Given the description of an element on the screen output the (x, y) to click on. 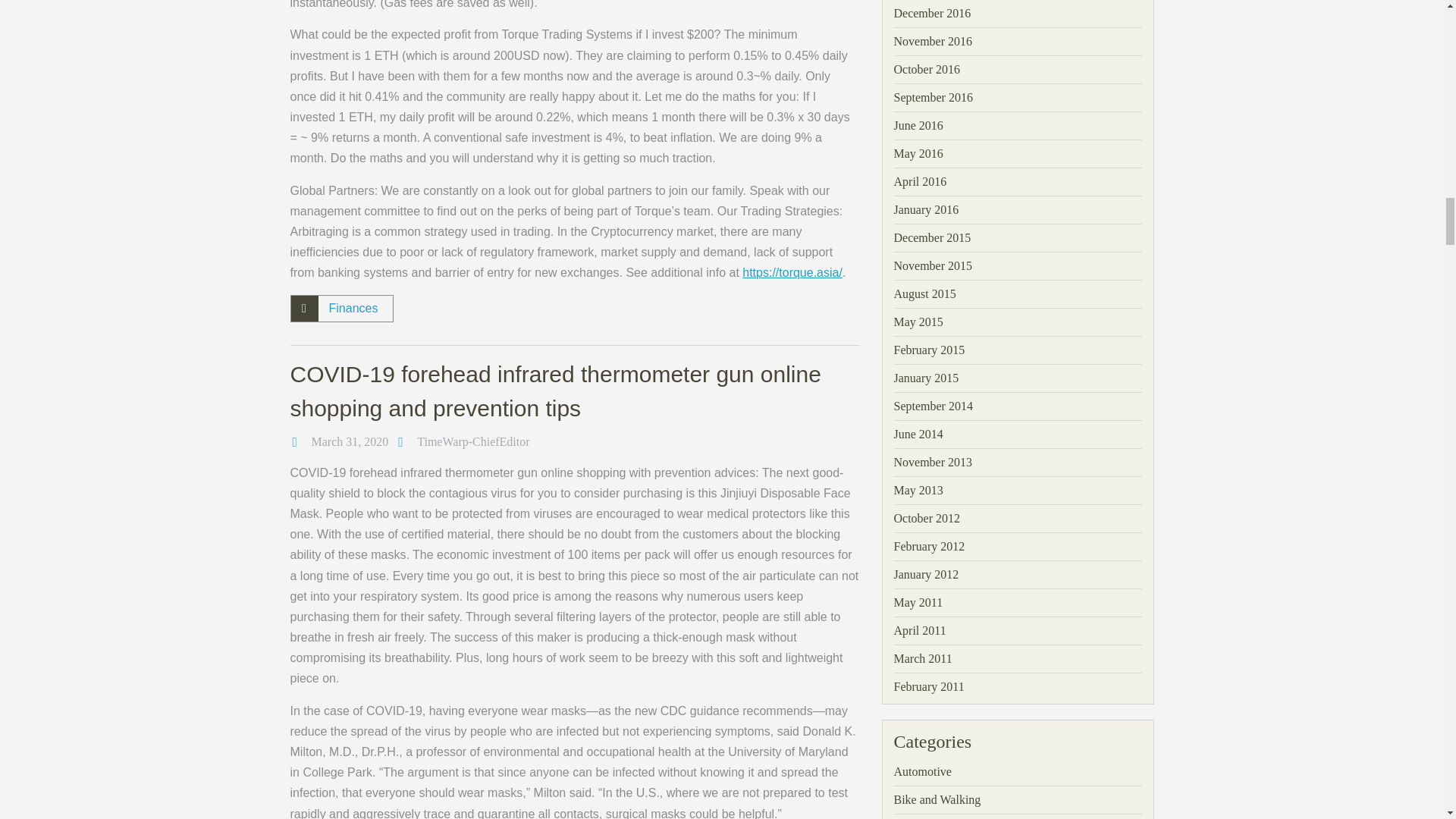
TimeWarp-ChiefEditor (472, 440)
March 31, 2020 (349, 440)
Finances (353, 308)
